Given the description of an element on the screen output the (x, y) to click on. 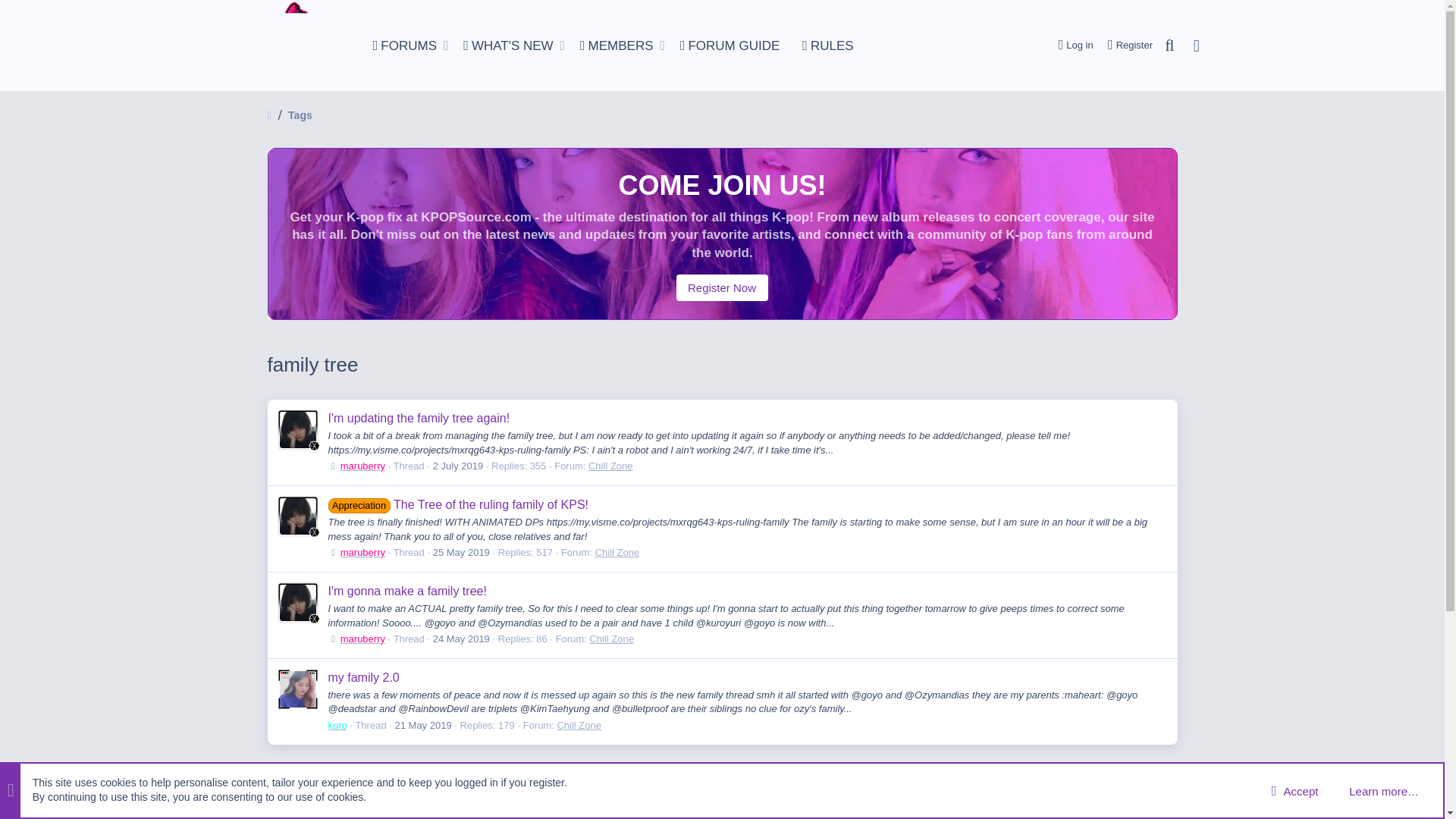
RULES (827, 45)
FORUM GUIDE (729, 45)
Register (1126, 44)
21 May 2019 at 4:26 PM (422, 725)
25 May 2019 at 11:51 AM (460, 552)
Log in (612, 45)
2 July 2019 at 12:52 PM (1071, 44)
FORUMS (457, 465)
24 May 2019 at 3:02 PM (400, 45)
MEMBERS (460, 638)
WHAT'S NEW (612, 45)
Register Now (503, 45)
Tags (722, 287)
